Given the description of an element on the screen output the (x, y) to click on. 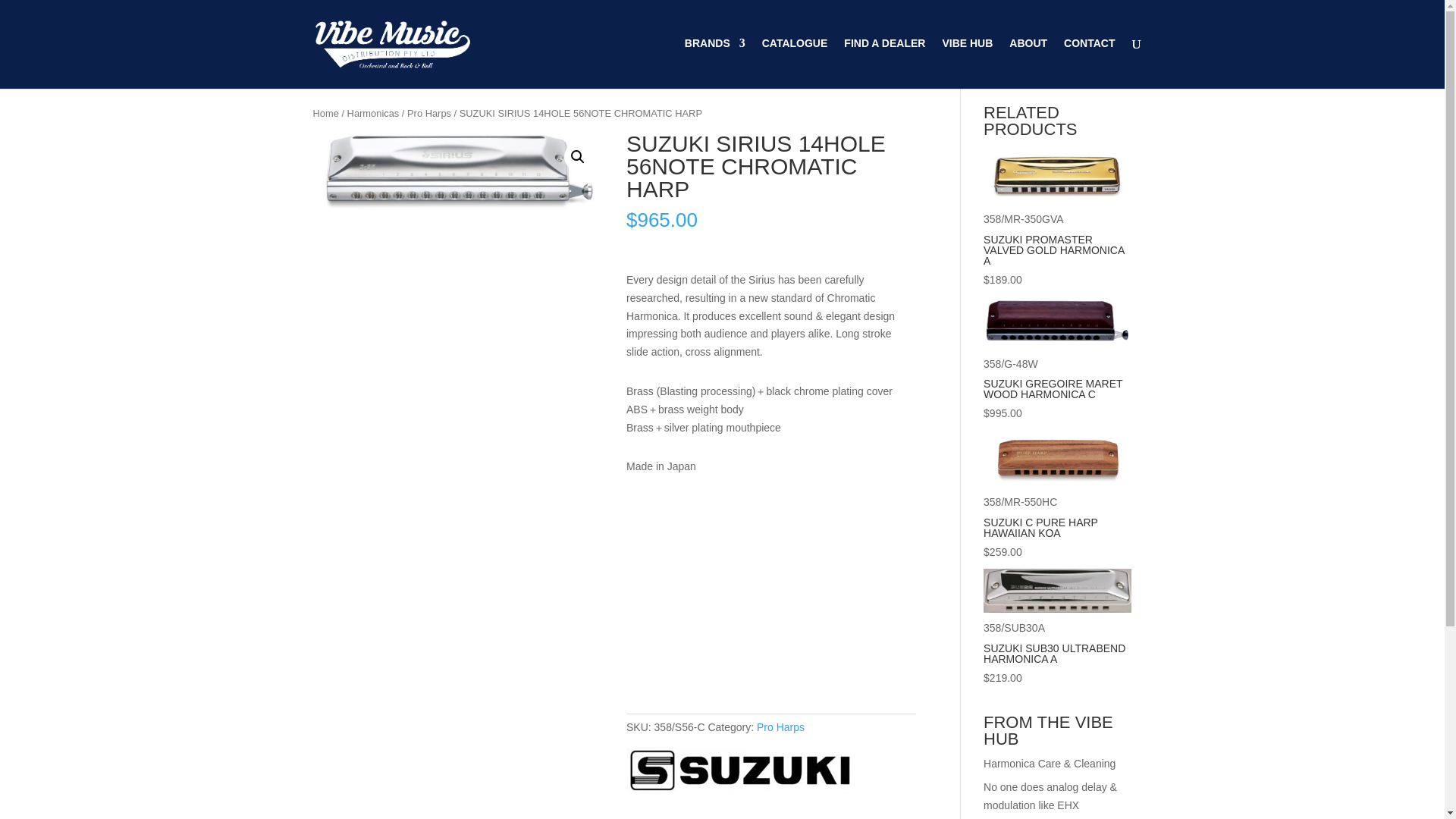
CONTACT (1089, 55)
FIND A DEALER (884, 55)
CATALOGUE (794, 55)
VIBE HUB (967, 55)
YouTube video player (770, 599)
358-S-56C (457, 172)
ABOUT (1027, 55)
BRANDS (714, 55)
SUZUKI (739, 773)
